Given the description of an element on the screen output the (x, y) to click on. 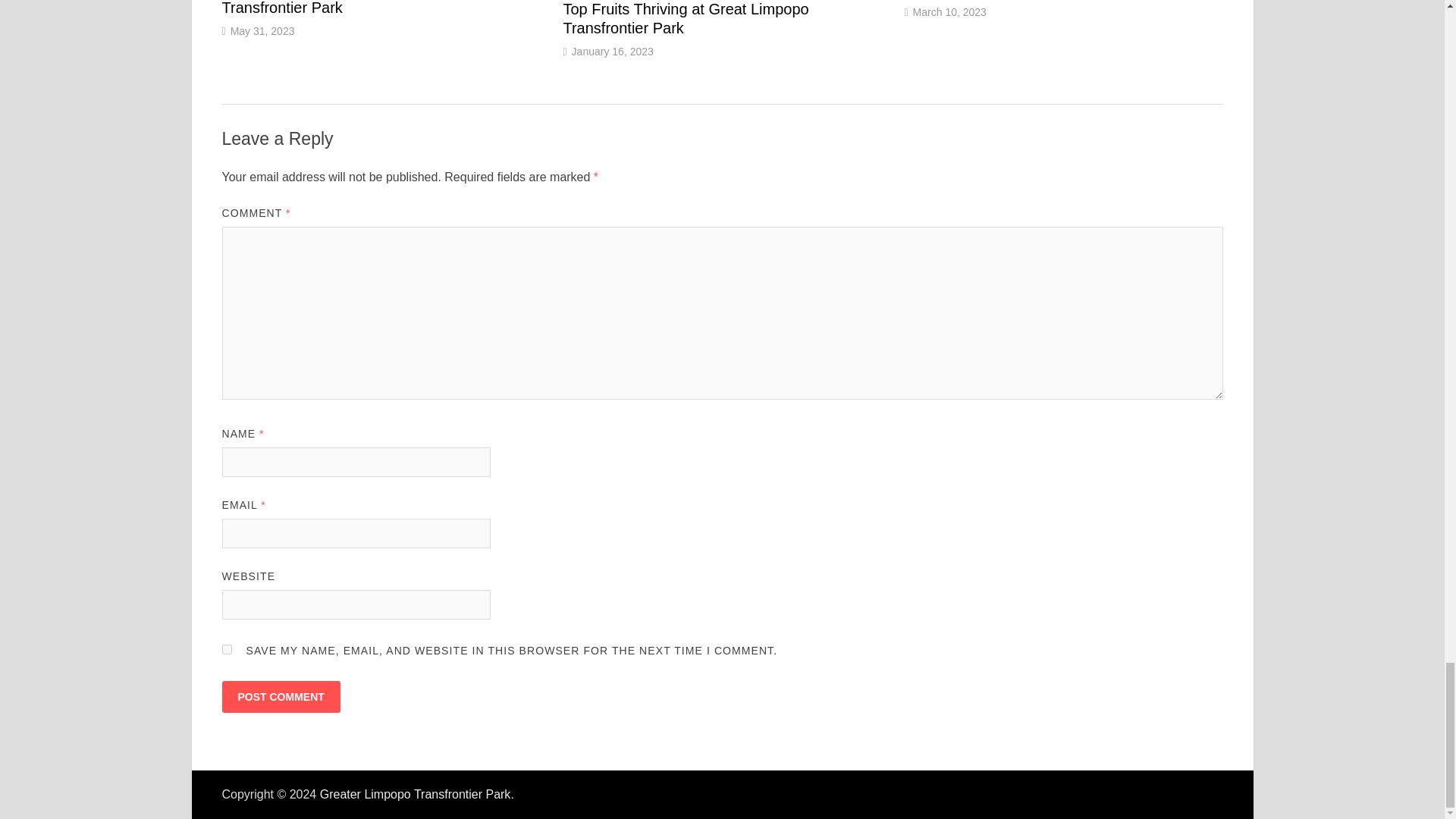
Greater Limpopo Transfrontier Park (415, 793)
Post Comment (280, 696)
Greater Limpopo Transfrontier Park (415, 793)
yes (226, 649)
Top Fruits Thriving at Great Limpopo Transfrontier Park (685, 18)
The Importance of the Great Limpopo Transfrontier Park (347, 7)
Post Comment (280, 696)
May 31, 2023 (262, 30)
January 16, 2023 (612, 51)
Top Fruits Thriving at Great Limpopo Transfrontier Park (685, 18)
March 10, 2023 (949, 11)
The Importance of the Great Limpopo Transfrontier Park (347, 7)
